Given the description of an element on the screen output the (x, y) to click on. 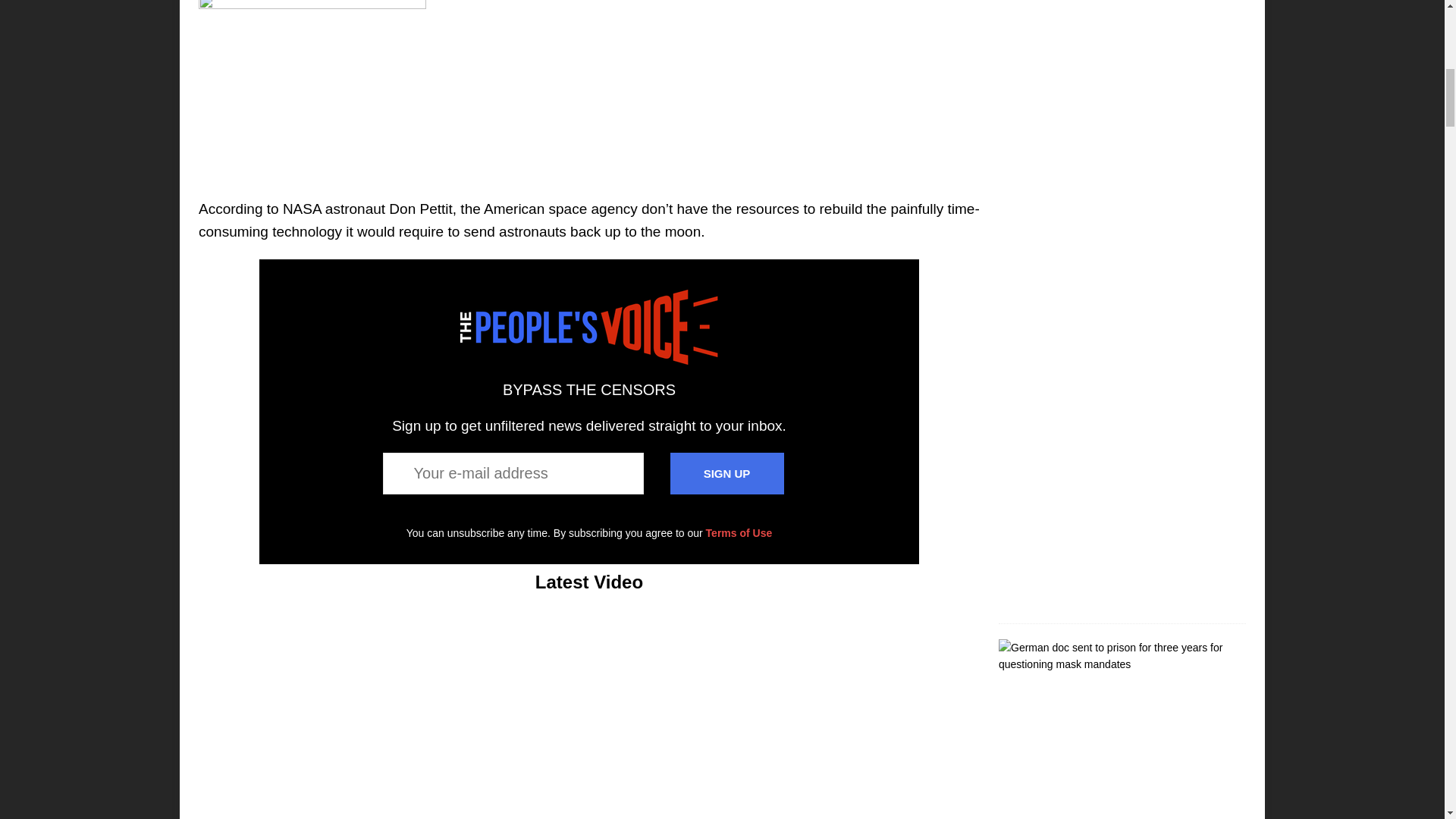
SIGN UP (726, 473)
